Given the description of an element on the screen output the (x, y) to click on. 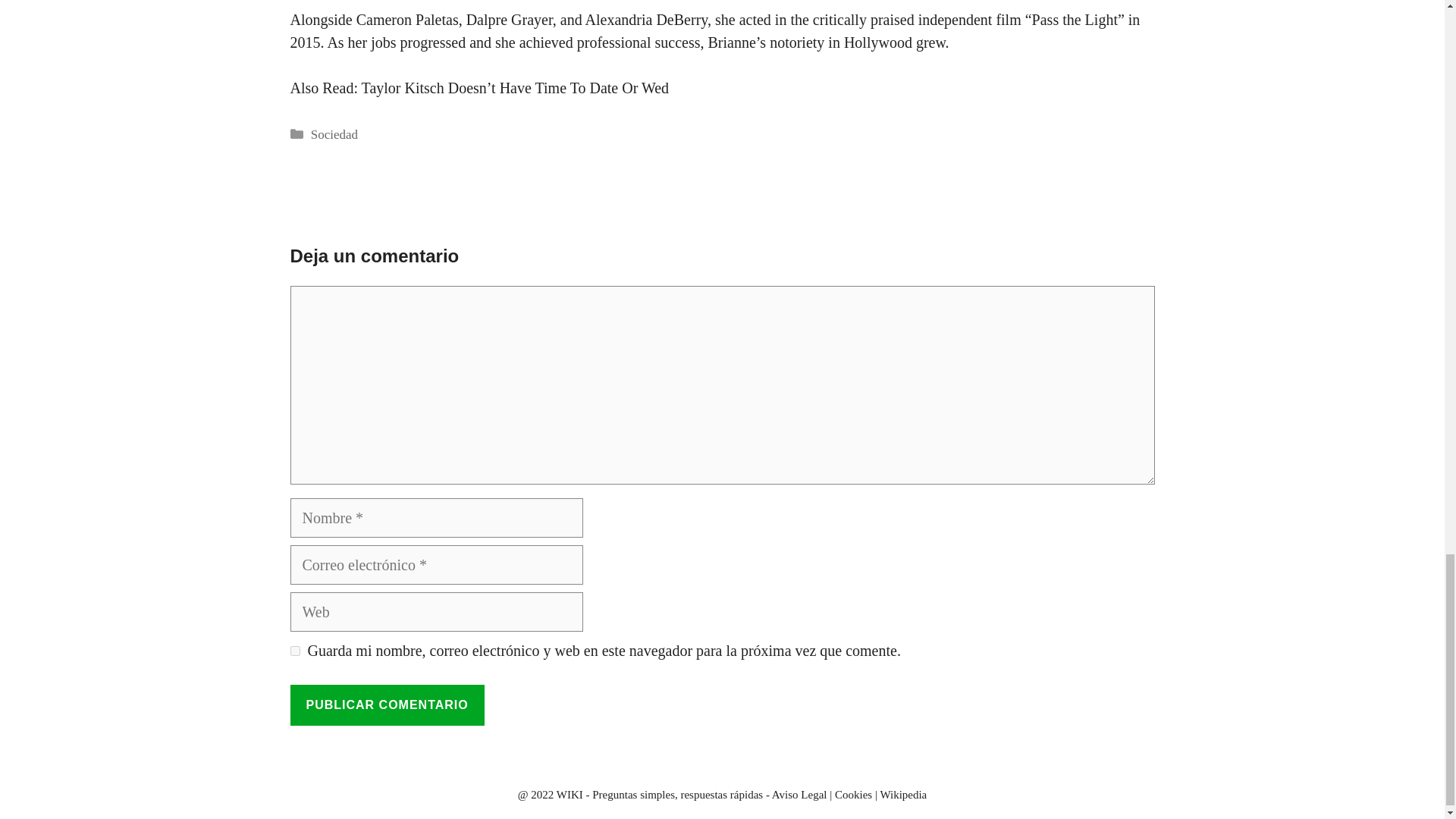
Publicar comentario (386, 704)
Publicar comentario (386, 704)
Aviso Legal (799, 794)
yes (294, 651)
Wikipedia (902, 794)
Cookies (853, 794)
Sociedad (334, 134)
